Given the description of an element on the screen output the (x, y) to click on. 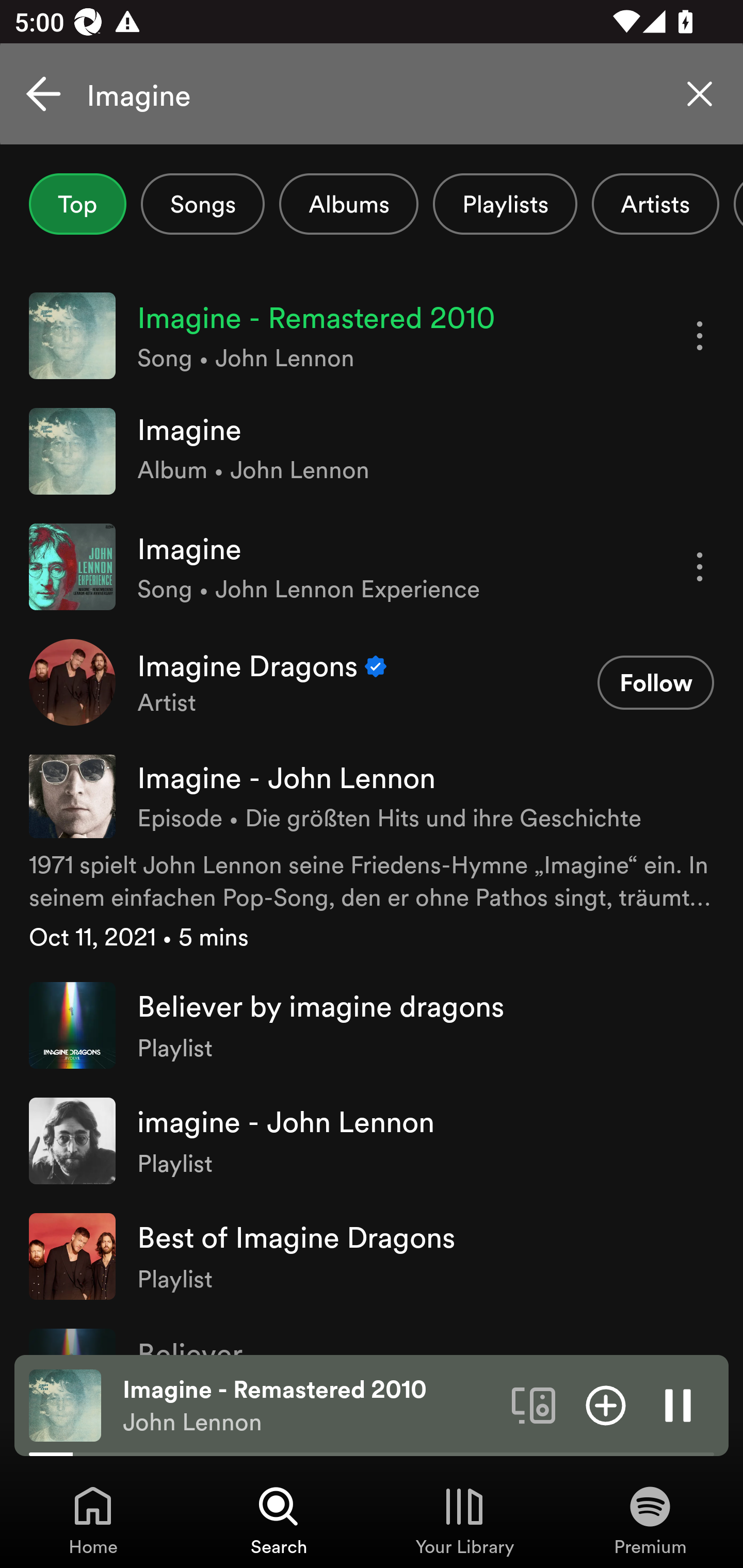
Imagine (371, 93)
Cancel (43, 93)
Clear search query (699, 93)
Top (77, 203)
Songs (202, 203)
Albums (348, 203)
Playlists (505, 203)
Artists (655, 203)
More options for song Imagine - Remastered 2010 (699, 336)
Imagine Album • John Lennon (371, 451)
More options for song Imagine (699, 566)
Imagine Dragons Verified Artist Follow Follow (371, 682)
Follow (655, 682)
Believer by imagine dragons  Playlist (371, 1025)
imagine - John Lennon Playlist (371, 1140)
Best of Imagine Dragons Playlist (371, 1255)
Imagine - Remastered 2010 John Lennon (309, 1405)
The cover art of the currently playing track (64, 1404)
Connect to a device. Opens the devices menu (533, 1404)
Add item (605, 1404)
Pause (677, 1404)
Home, Tab 1 of 4 Home Home (92, 1519)
Search, Tab 2 of 4 Search Search (278, 1519)
Your Library, Tab 3 of 4 Your Library Your Library (464, 1519)
Premium, Tab 4 of 4 Premium Premium (650, 1519)
